Given the description of an element on the screen output the (x, y) to click on. 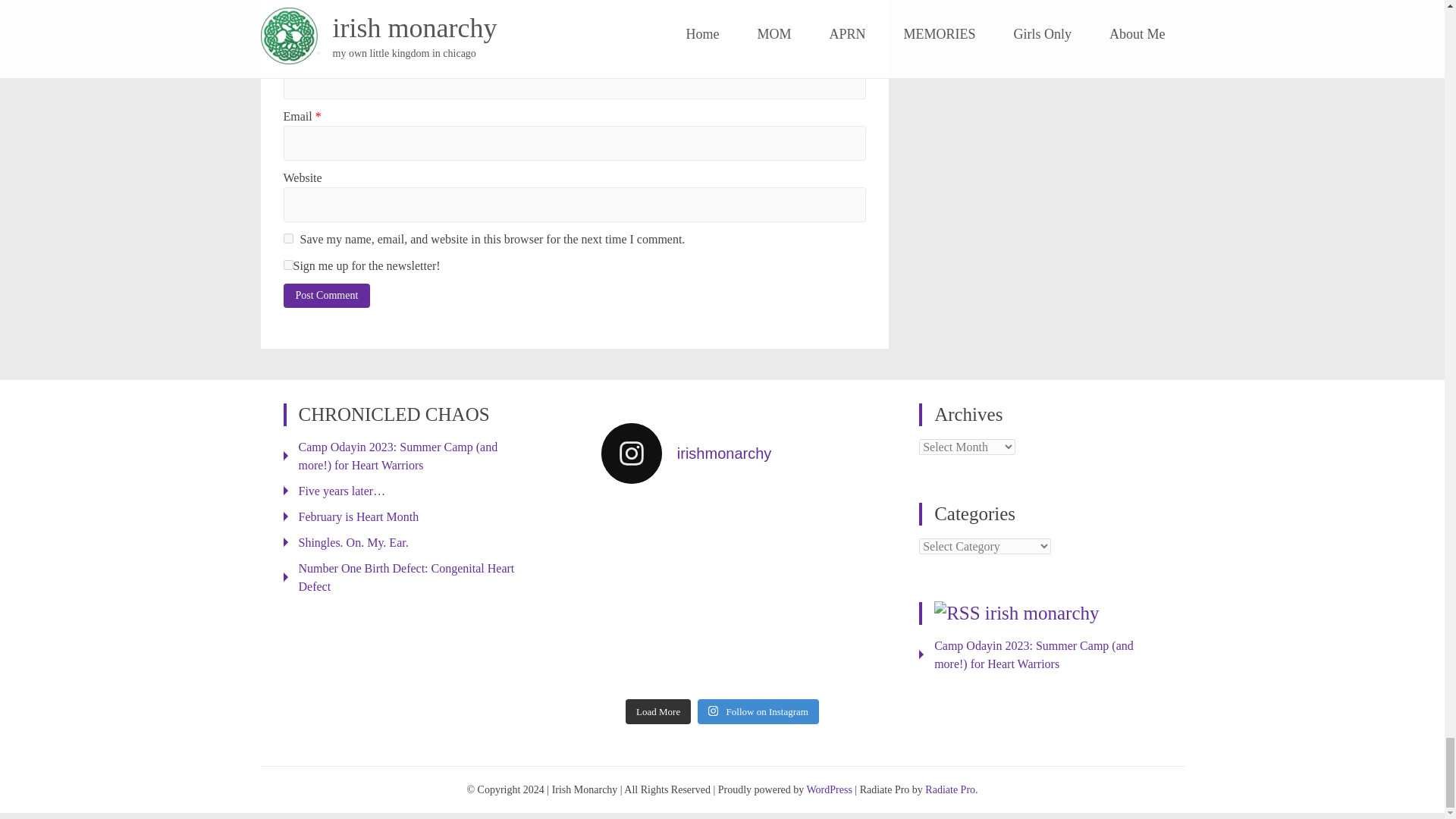
yes (288, 238)
Radiate Pro (949, 789)
1 (288, 265)
WordPress (828, 789)
Post Comment (327, 295)
